Given the description of an element on the screen output the (x, y) to click on. 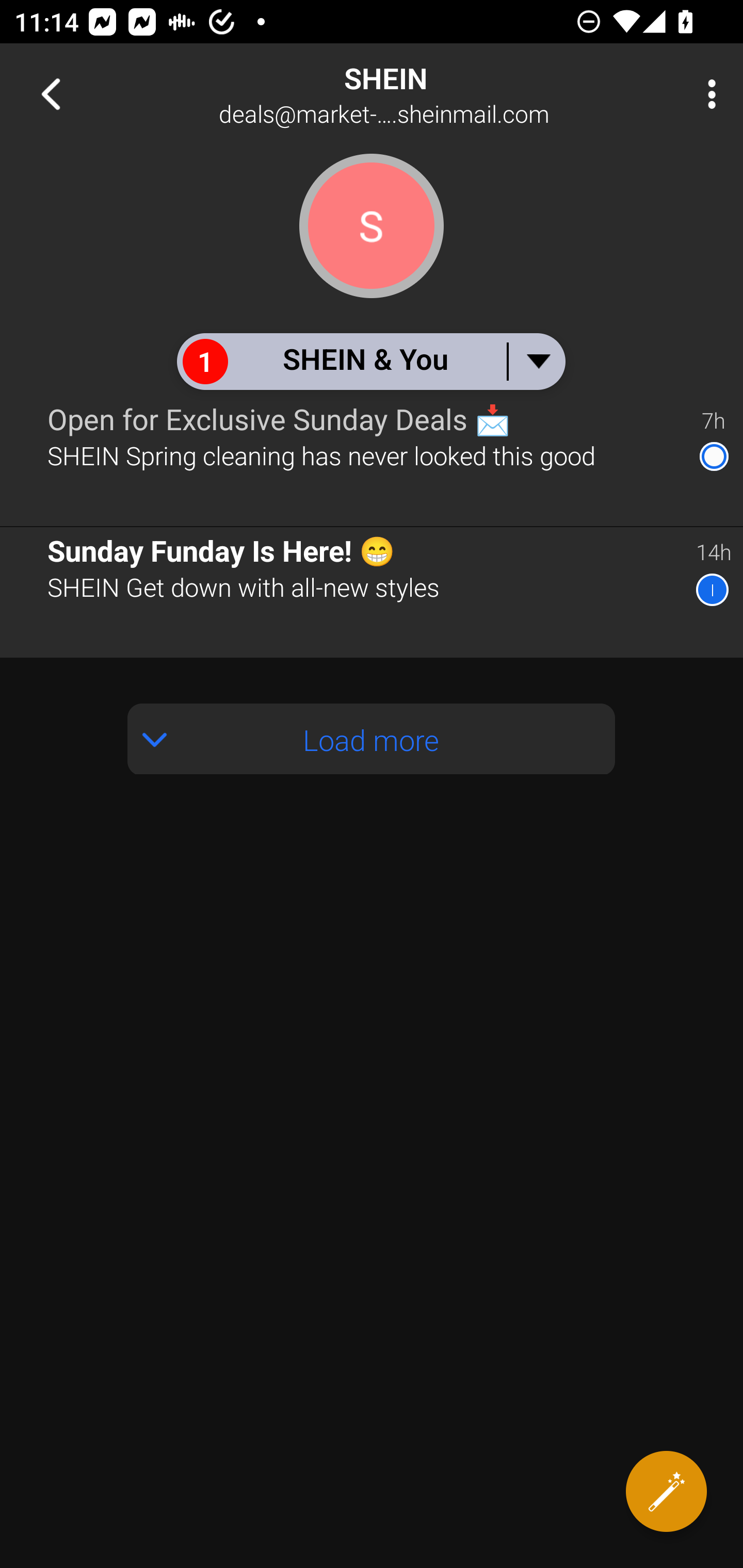
Navigate up (50, 93)
SHEIN deals@market-us.sheinmail.com (436, 93)
More Options (706, 93)
1 SHEIN & You (370, 361)
Load more (371, 739)
